Given the description of an element on the screen output the (x, y) to click on. 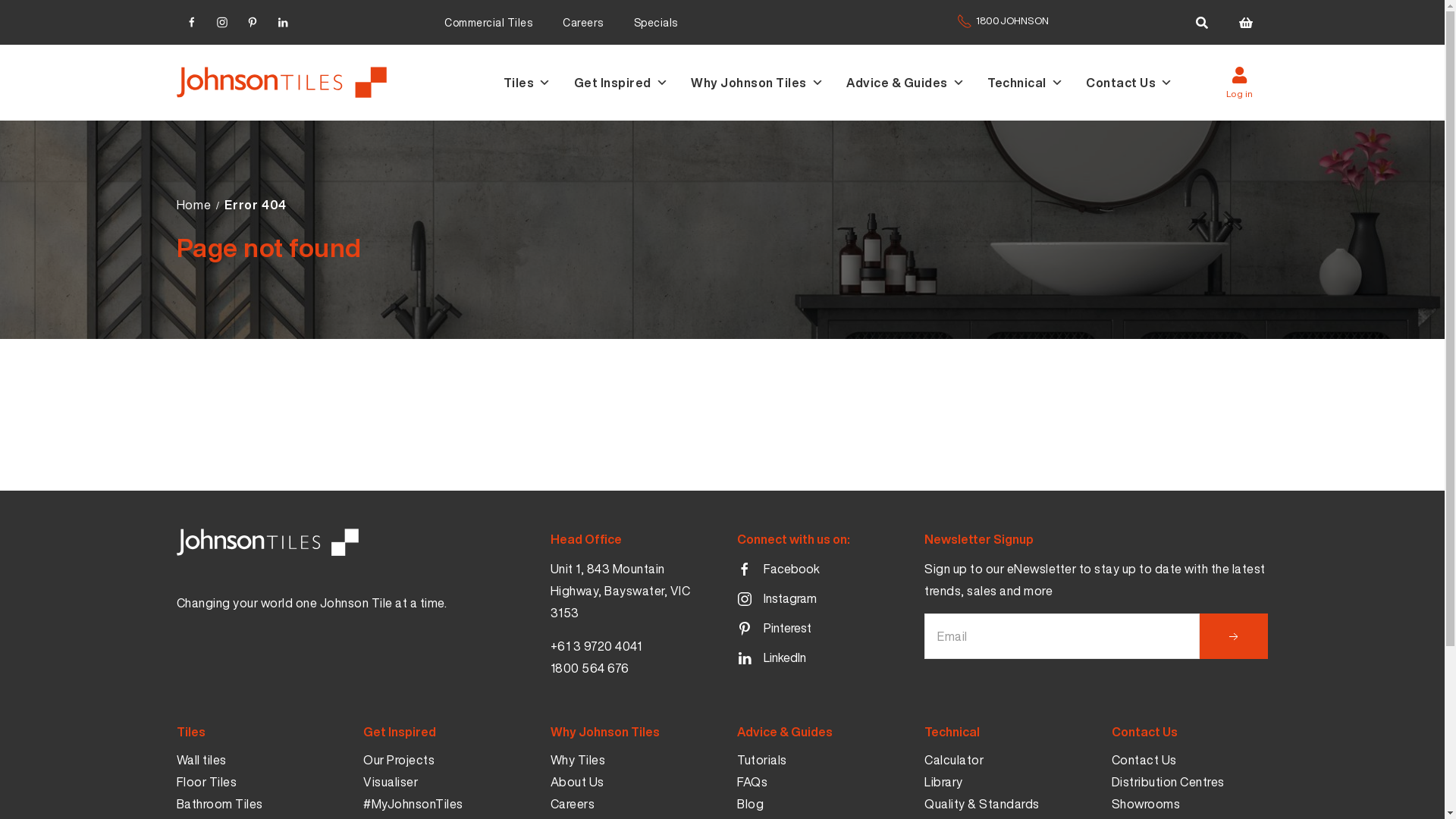
FAQs Element type: text (752, 782)
#MyJohnsonTiles Element type: text (413, 804)
Commercial Tiles Element type: text (488, 22)
About Us Element type: text (577, 782)
Facebook Element type: hover (190, 20)
Wall tiles Element type: text (200, 760)
Pinterest Element type: hover (251, 20)
Get Inspired Element type: text (631, 82)
Library Element type: text (943, 782)
Bathroom Tiles Element type: text (218, 804)
Calculator Element type: text (953, 760)
Floor Tiles Element type: text (205, 782)
Blog Element type: text (750, 804)
Facebook Element type: text (778, 570)
Our Projects Element type: text (398, 760)
LinkedIn Element type: text (771, 658)
Specials Element type: text (655, 22)
Distribution Centres Element type: text (1167, 782)
+61 3 9720 4041 Element type: text (596, 646)
Tiles Element type: text (538, 82)
Contact Us Element type: text (1140, 82)
Advice & Guides Element type: text (916, 82)
Careers Element type: text (572, 804)
1800JOHNSON Element type: text (1002, 27)
Instagram Element type: text (776, 599)
Showrooms Element type: text (1145, 804)
Technical Element type: text (1036, 82)
Instagram Element type: hover (221, 20)
Home Element type: text (192, 204)
Tutorials Element type: text (762, 760)
Why Tiles Element type: text (577, 760)
LinkedIn Element type: hover (281, 20)
Visualiser Element type: text (390, 782)
Careers Element type: text (582, 22)
Why Johnson Tiles Element type: text (768, 82)
Skip to navigation Element type: text (285, 81)
Pinterest Element type: text (774, 629)
1800 564 676 Element type: text (589, 668)
Log in Element type: text (1238, 82)
Contact Us Element type: text (1143, 760)
Quality & Standards Element type: text (981, 804)
